Given the description of an element on the screen output the (x, y) to click on. 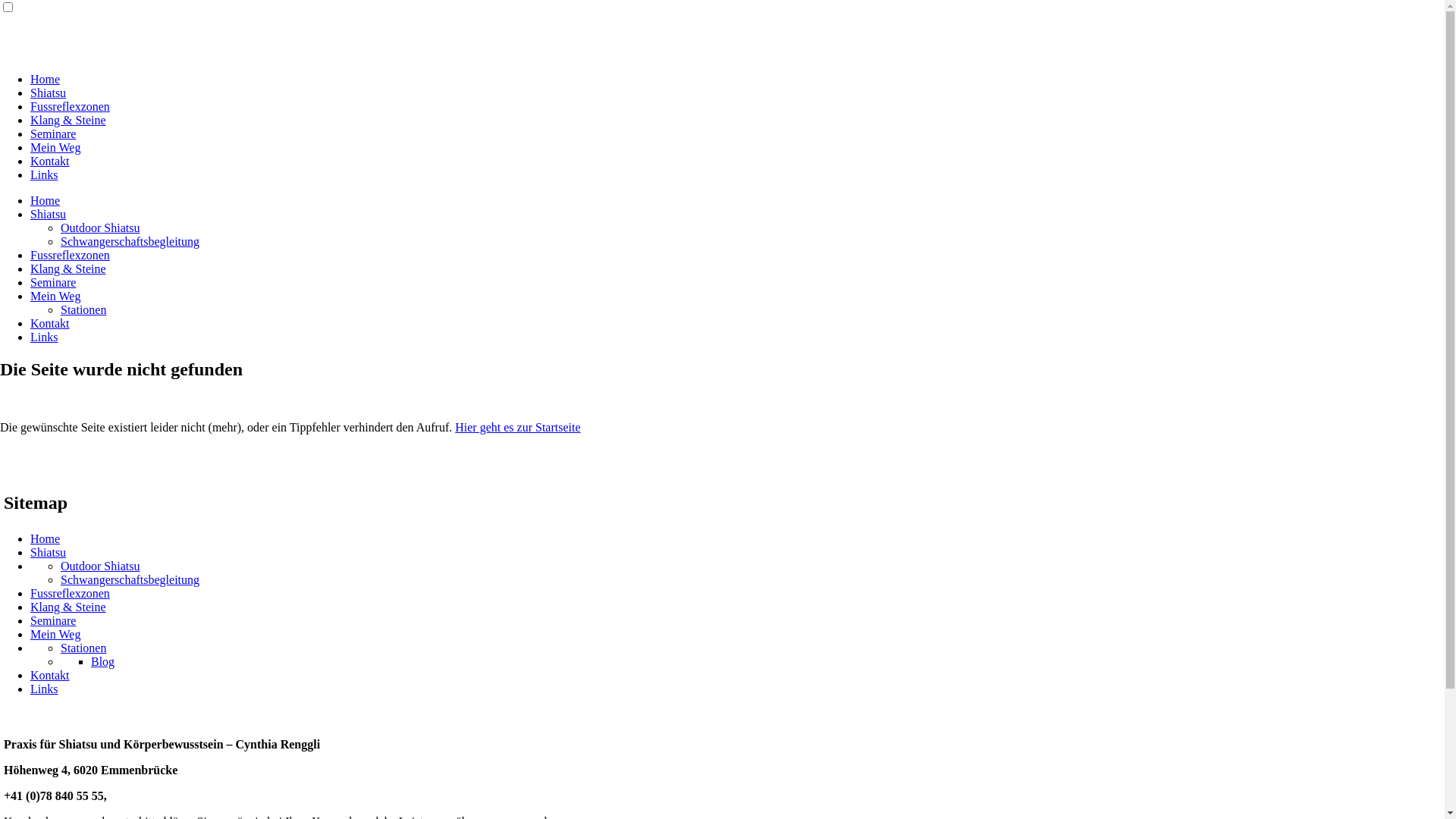
Outdoor Shiatsu Element type: text (99, 565)
Shiatsu Element type: text (47, 552)
Home Element type: text (44, 200)
Klang & Steine Element type: text (68, 606)
Kontakt Element type: text (49, 322)
Stationen Element type: text (83, 647)
Kontakt Element type: text (49, 160)
Schwangerschaftsbegleitung Element type: text (129, 241)
Mein Weg Element type: text (55, 295)
Home Element type: text (44, 538)
Klang & Steine Element type: text (68, 268)
Blog Element type: text (102, 661)
Links Element type: text (43, 336)
Mein Weg Element type: text (55, 633)
Outdoor Shiatsu Element type: text (99, 227)
Links Element type: text (43, 174)
Fussreflexzonen Element type: text (69, 592)
Mein Weg Element type: text (55, 147)
Klang & Steine Element type: text (68, 119)
Links Element type: text (43, 688)
Hier geht es zur Startseite Element type: text (517, 426)
info@bewegtsein.ch Element type: text (161, 795)
Seminare Element type: text (52, 620)
Stationen Element type: text (83, 309)
Kontakt Element type: text (49, 674)
Seminare Element type: text (52, 133)
Shiatsu Element type: text (47, 92)
Home Element type: text (44, 78)
Fussreflexzonen Element type: text (69, 106)
Seminare Element type: text (52, 282)
Shiatsu Element type: text (47, 213)
Schwangerschaftsbegleitung Element type: text (129, 579)
Fussreflexzonen Element type: text (69, 254)
